Given the description of an element on the screen output the (x, y) to click on. 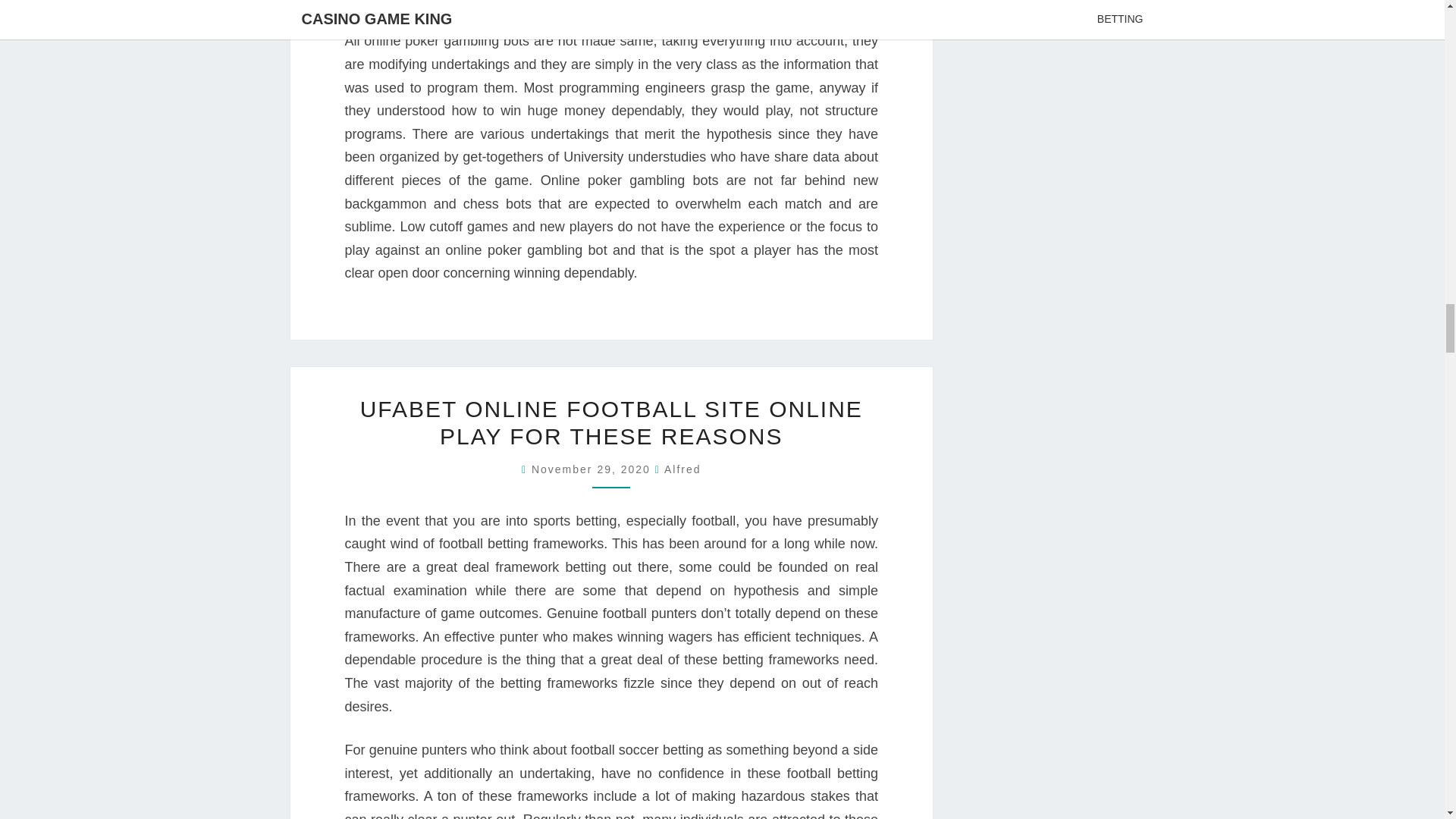
Alfred (682, 469)
November 29, 2020 (593, 469)
UFABET ONLINE FOOTBALL SITE ONLINE PLAY FOR THESE REASONS (611, 422)
View all posts by Alfred (682, 469)
5:38 am (593, 469)
